Given the description of an element on the screen output the (x, y) to click on. 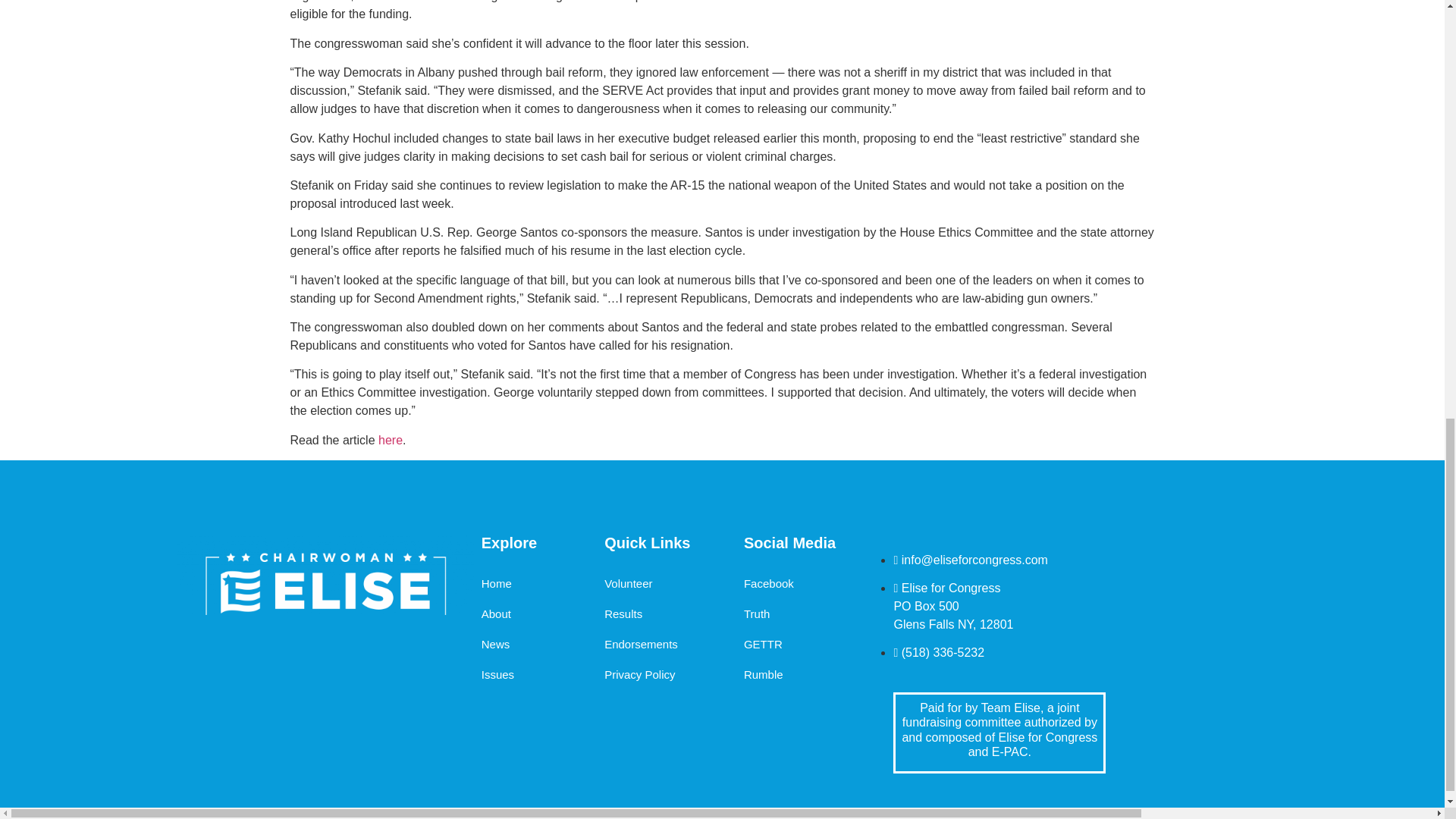
GETTR (763, 644)
here (390, 440)
About (496, 613)
Volunteer (628, 583)
Endorsements (641, 644)
Home (496, 583)
News (496, 644)
Rumble (763, 675)
Privacy Policy (639, 675)
Facebook (768, 583)
